Given the description of an element on the screen output the (x, y) to click on. 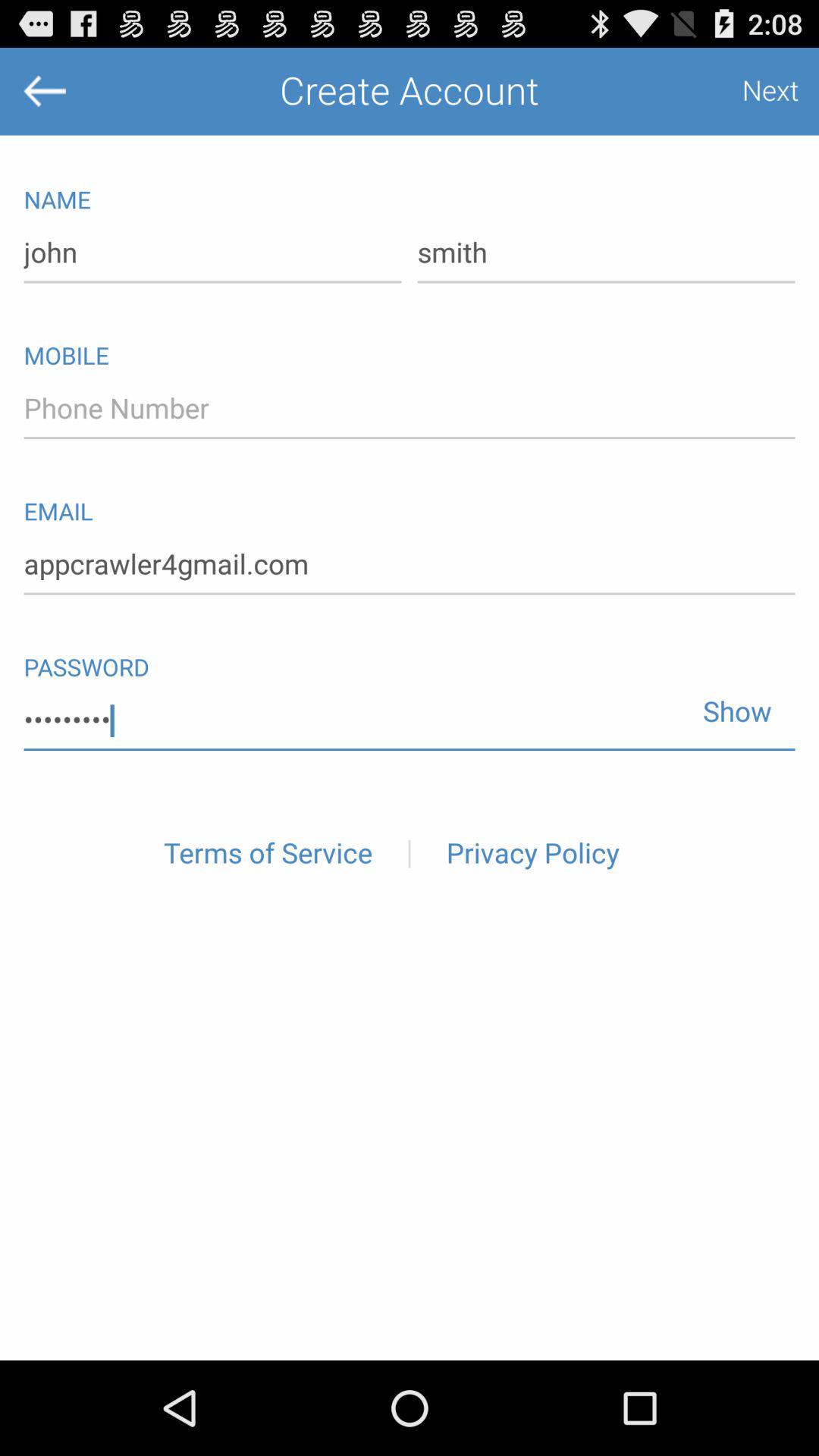
turn on the item on the left (267, 854)
